Given the description of an element on the screen output the (x, y) to click on. 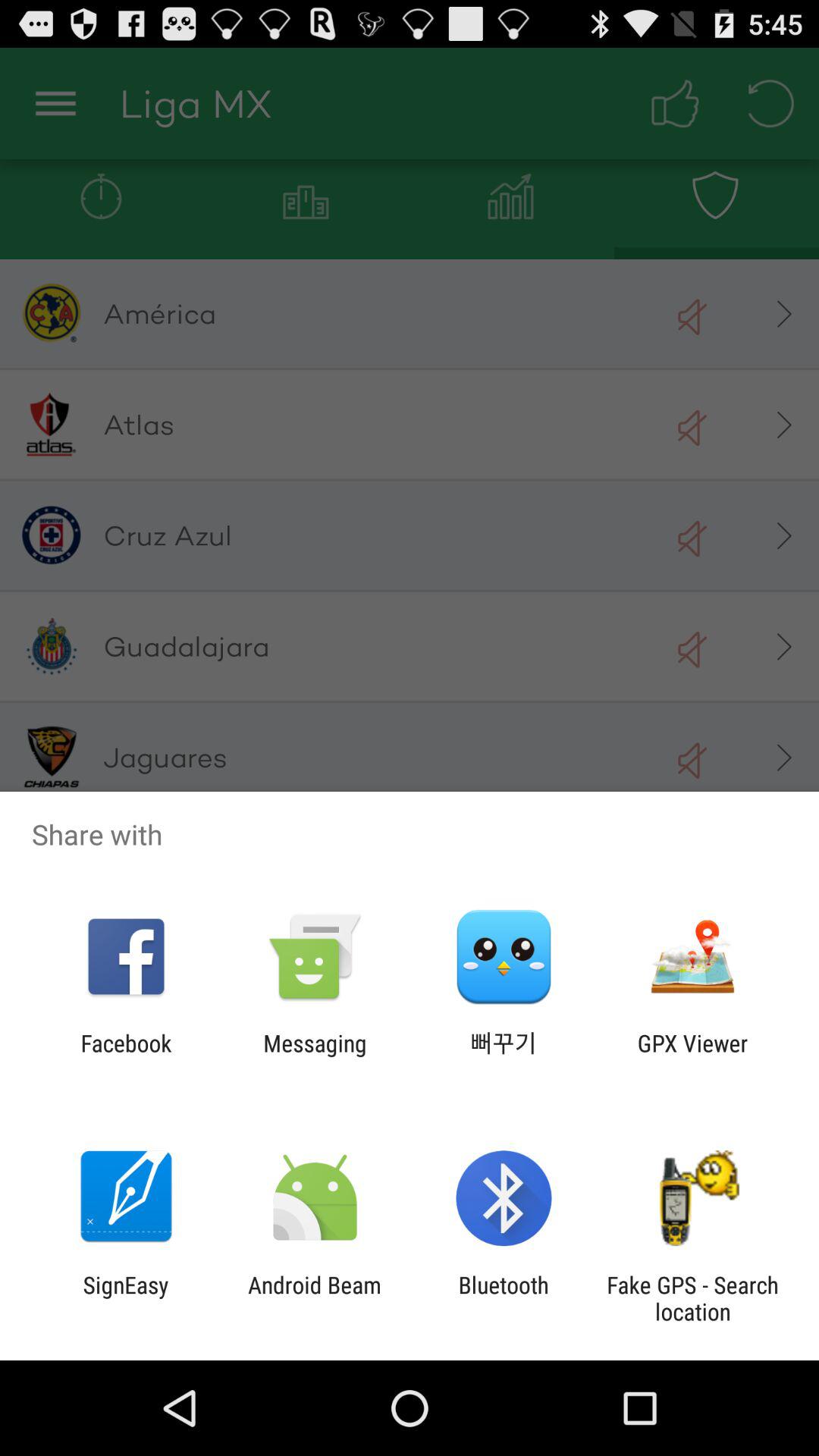
press the app to the left of fake gps search (503, 1298)
